Given the description of an element on the screen output the (x, y) to click on. 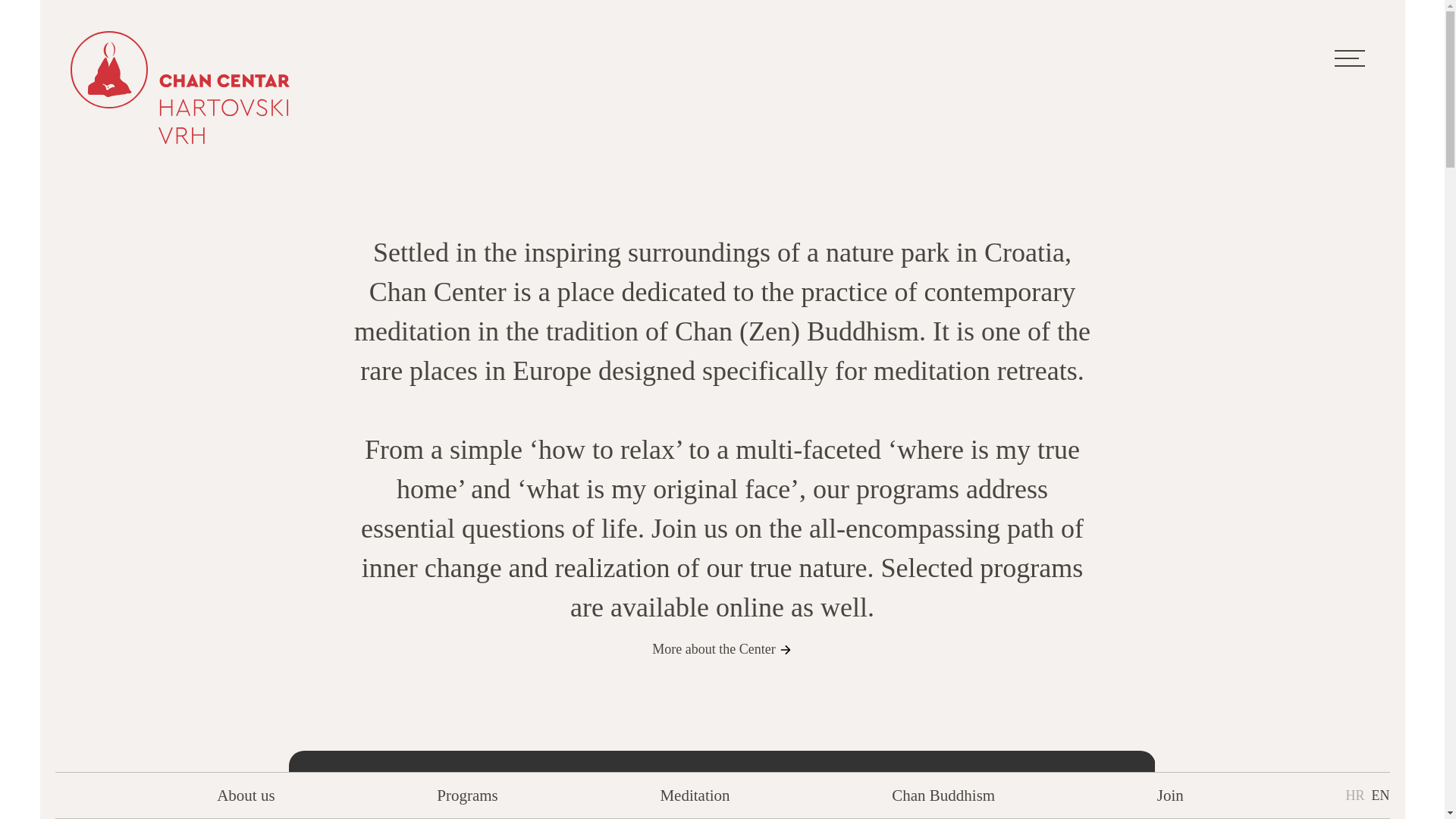
Events calendar (1053, 207)
Prijava (1029, 332)
IG (440, 754)
YT (378, 754)
Meditation (353, 278)
FB (315, 756)
Resources (350, 392)
About us (343, 164)
FAQ (1023, 243)
Getting here (1043, 170)
